Given the description of an element on the screen output the (x, y) to click on. 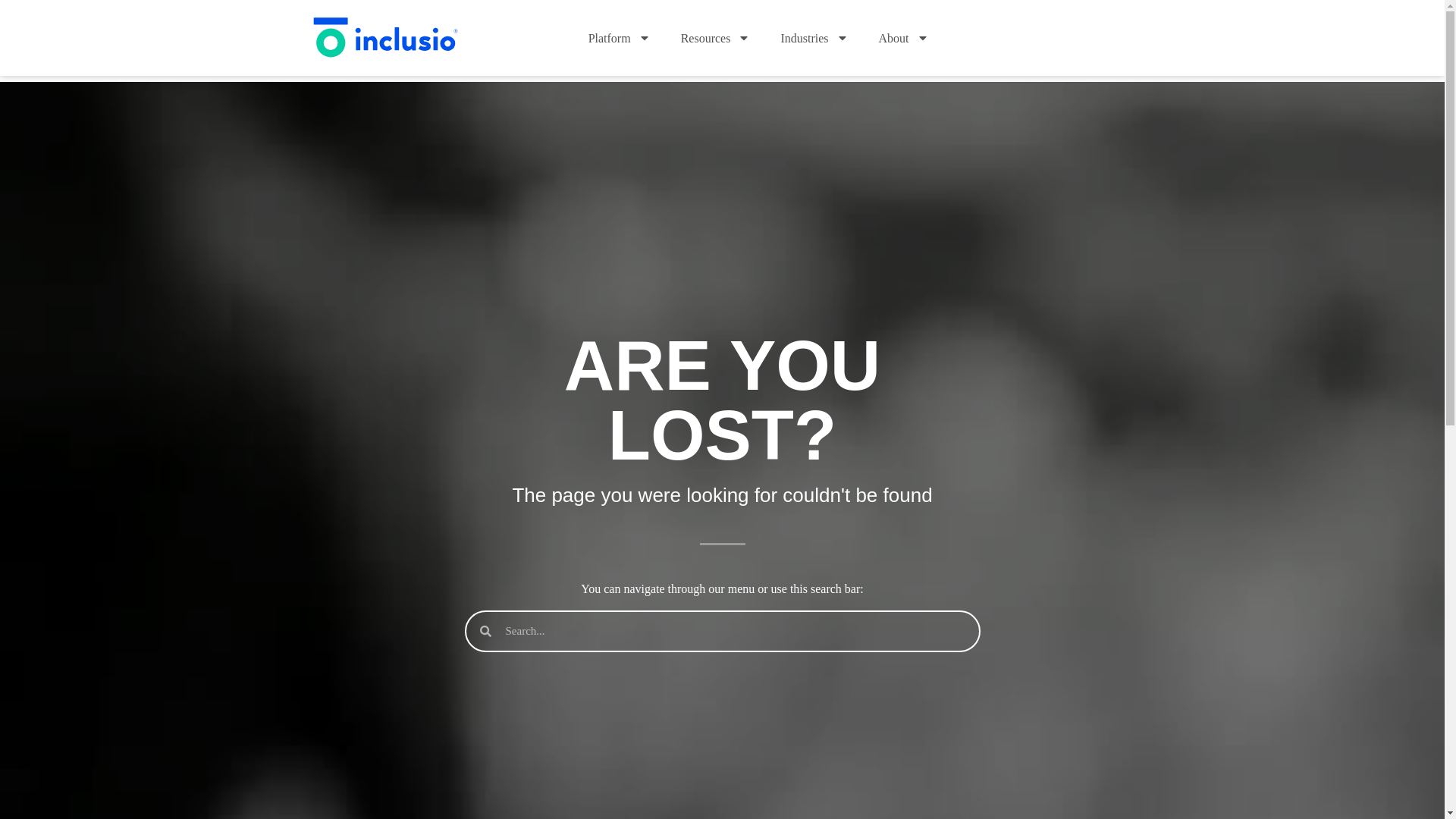
About (903, 38)
Resources (715, 38)
Industries (814, 38)
Platform (619, 38)
